Given the description of an element on the screen output the (x, y) to click on. 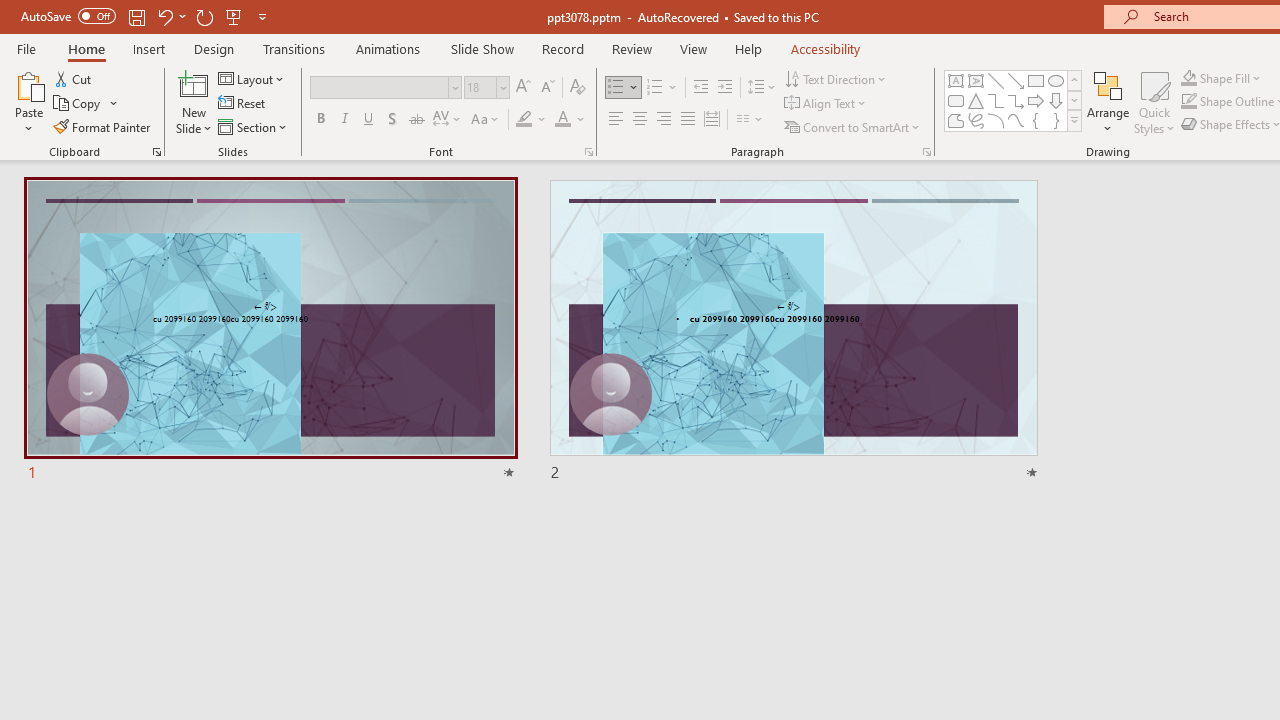
Rectangle (1035, 80)
Shape Outline Green, Accent 1 (1188, 101)
Decrease Indent (700, 87)
Strikethrough (416, 119)
Font Color Red (562, 119)
Arrow: Down (1055, 100)
Underline (369, 119)
Increase Font Size (522, 87)
